Given the description of an element on the screen output the (x, y) to click on. 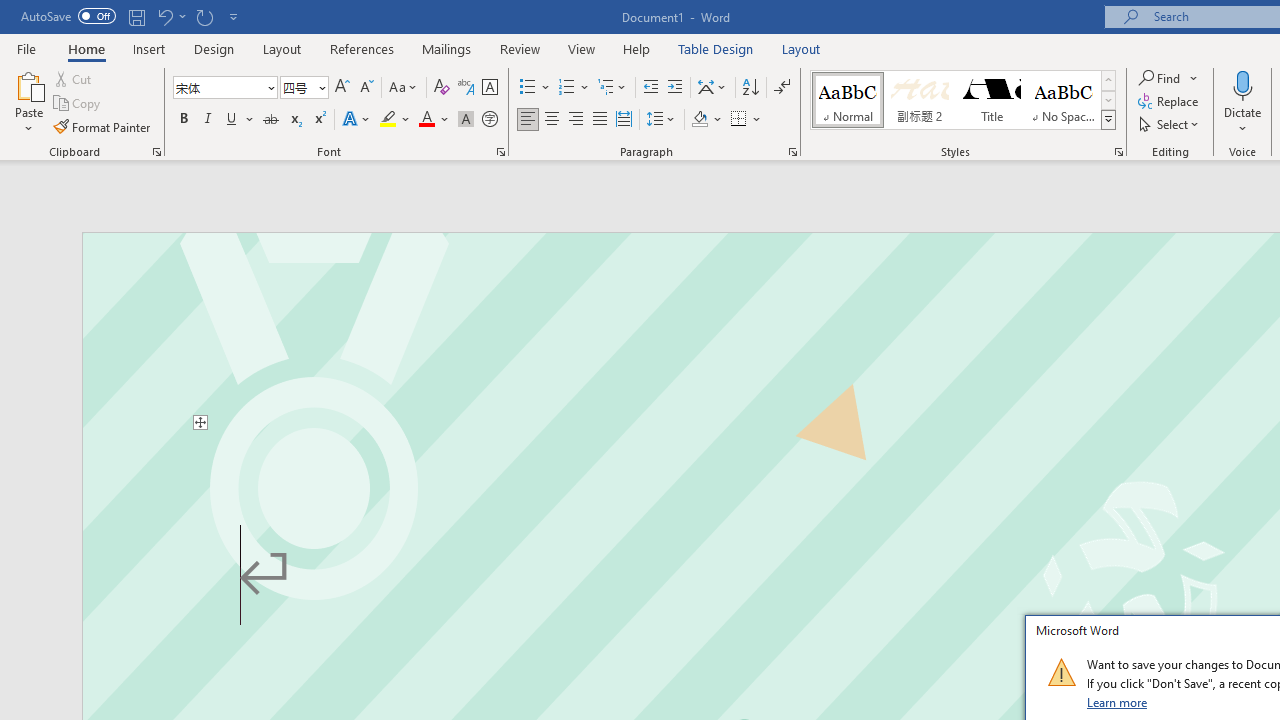
Repeat Doc Close (204, 15)
